Given the description of an element on the screen output the (x, y) to click on. 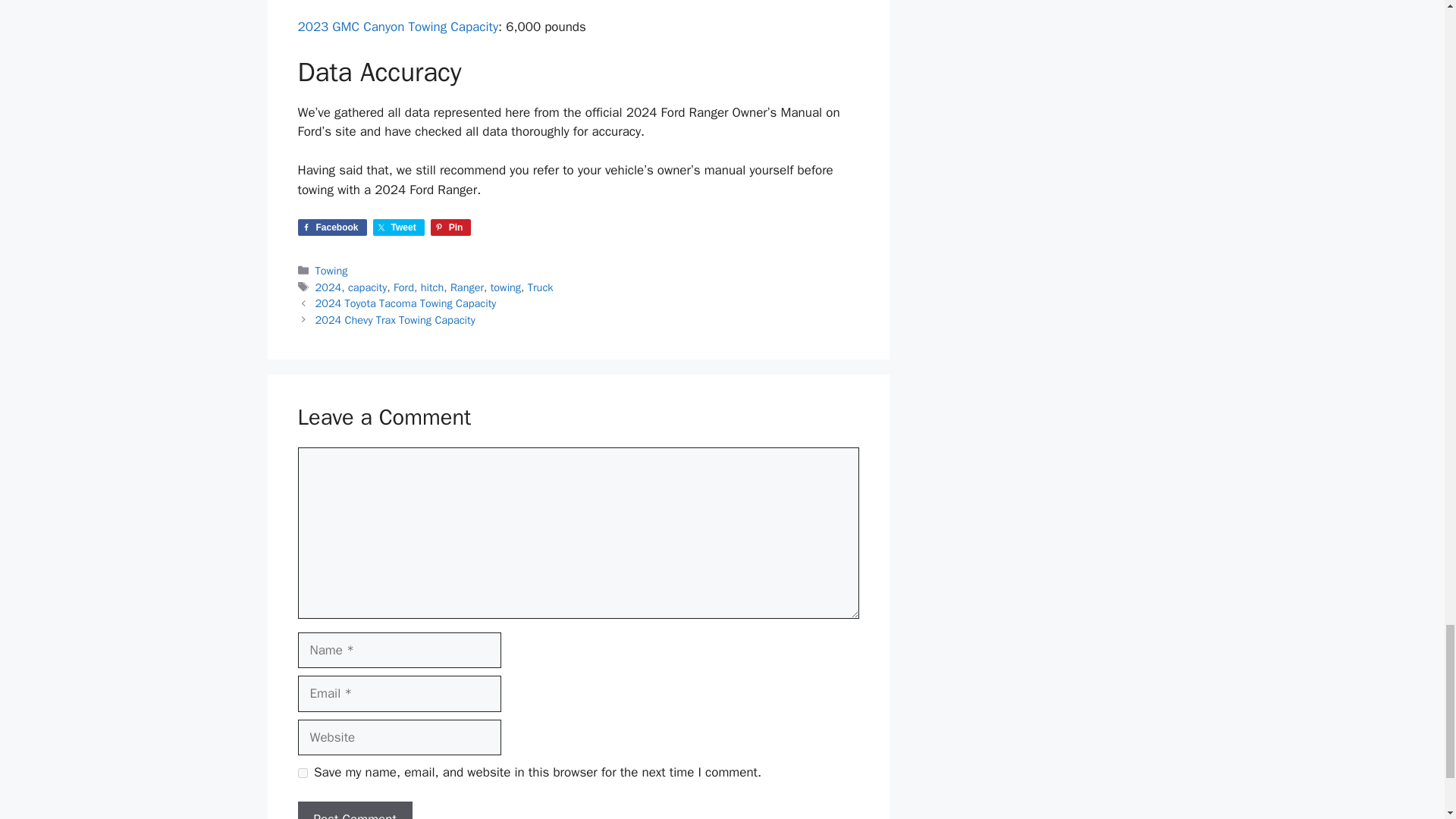
2024 (328, 287)
Share on Facebook (331, 226)
Towing (331, 270)
Ford (403, 287)
Share on Pinterest (450, 226)
capacity (367, 287)
Ranger (466, 287)
towing (505, 287)
Pin (450, 226)
Facebook (331, 226)
